Given the description of an element on the screen output the (x, y) to click on. 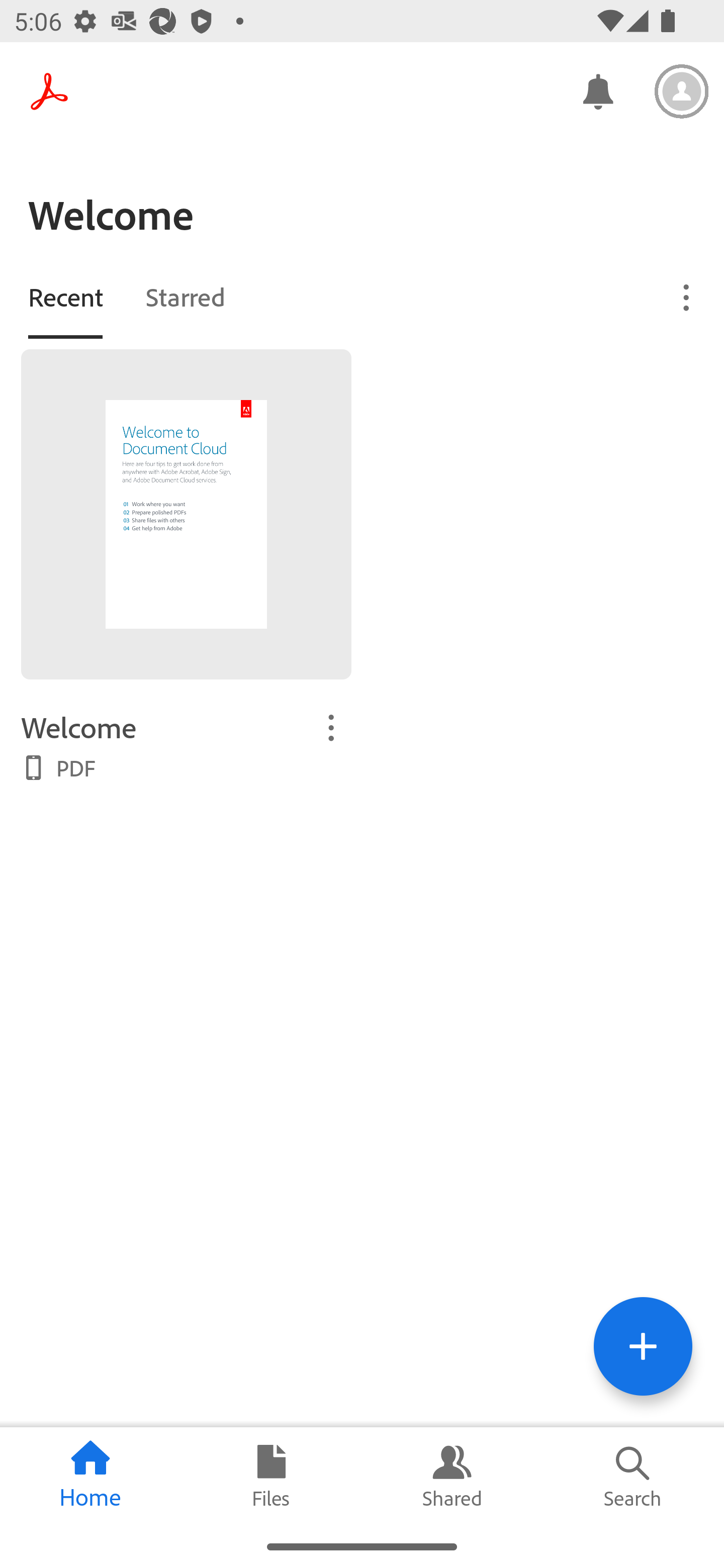
Notifications (597, 90)
Settings (681, 91)
Recent (65, 296)
Starred (185, 296)
Overflow (687, 296)
Welcome.pdf (185, 513)
Welcome Stored On This Device PDF Overflow (185, 744)
Tools (642, 1345)
Home (90, 1475)
Files (271, 1475)
Shared (452, 1475)
Search (633, 1475)
